Given the description of an element on the screen output the (x, y) to click on. 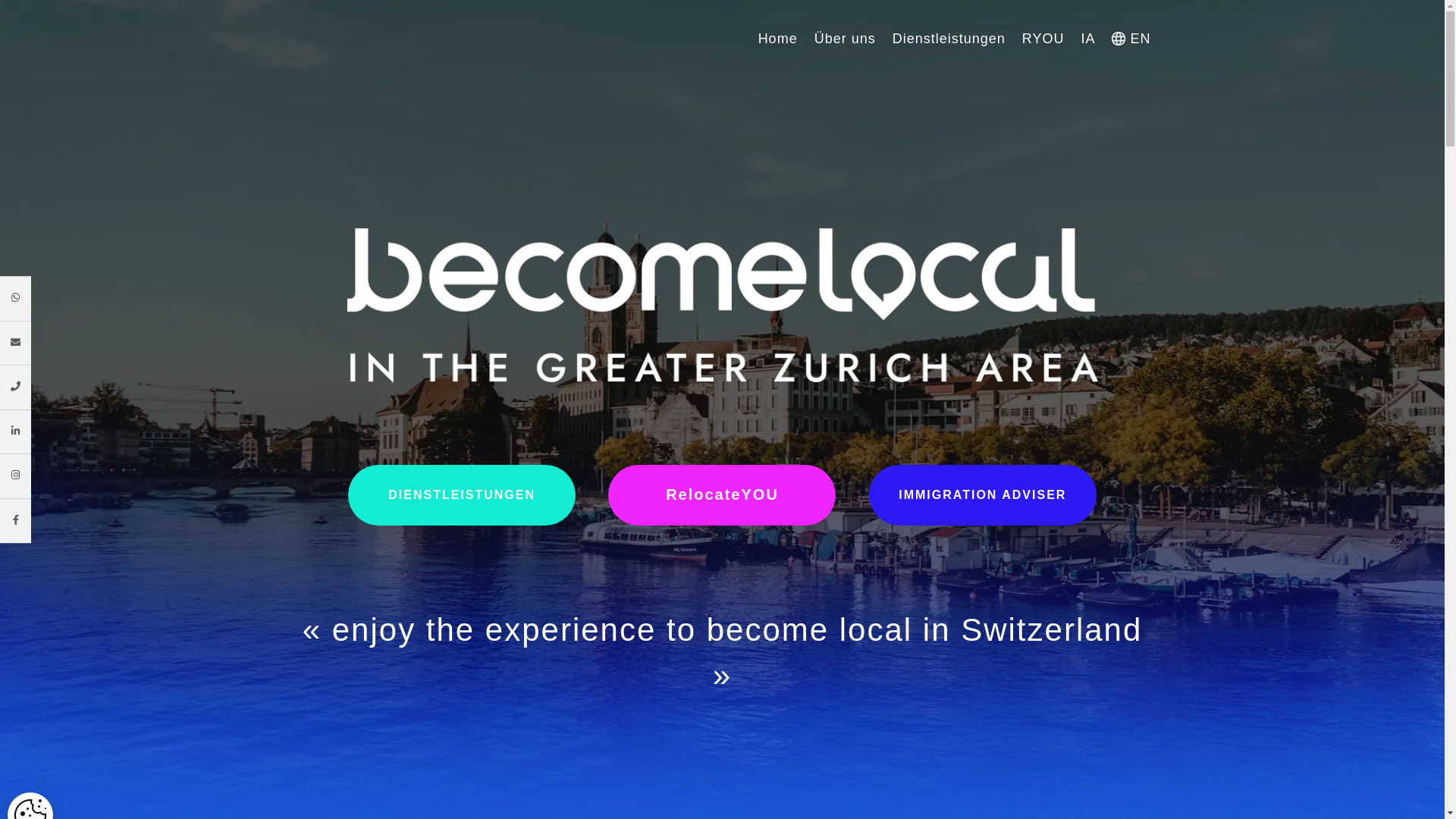
Dienstleistungen Element type: text (948, 38)
Home Element type: text (777, 38)
RelocateYOU Element type: text (721, 494)
banneritem_1 Element type: hover (722, 305)
IA Element type: text (1087, 38)
RYOU Element type: text (1043, 38)
IMMIGRATION ADVISER Element type: text (982, 494)
RelocateYOU Element type: text (721, 494)
EN Element type: text (1130, 38)
IMMIGRATION ADVISER Element type: text (982, 494)
DIENSTLEISTUNGEN Element type: text (461, 494)
DIENSTLEISTUNGEN Element type: text (461, 494)
